Given the description of an element on the screen output the (x, y) to click on. 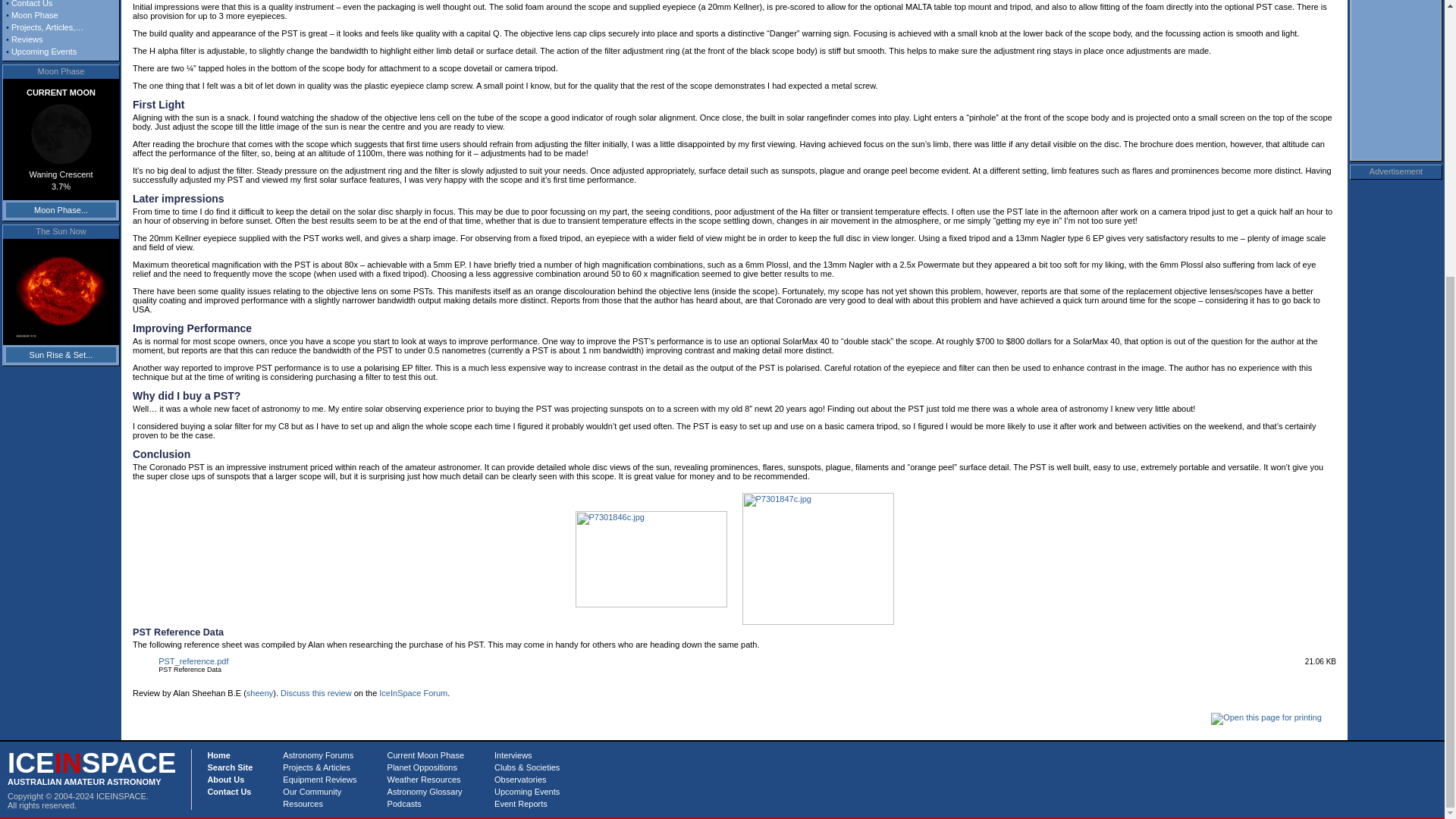
Latest SOHO Image (60, 291)
Reviews (27, 39)
sheeny (259, 692)
Contact Us (31, 3)
IceInSpace Forum (412, 692)
Moon Phase... (60, 209)
Discuss this review (316, 692)
Upcoming Events (44, 51)
Moon Phase (34, 14)
Current Moon Phase (60, 134)
